Given the description of an element on the screen output the (x, y) to click on. 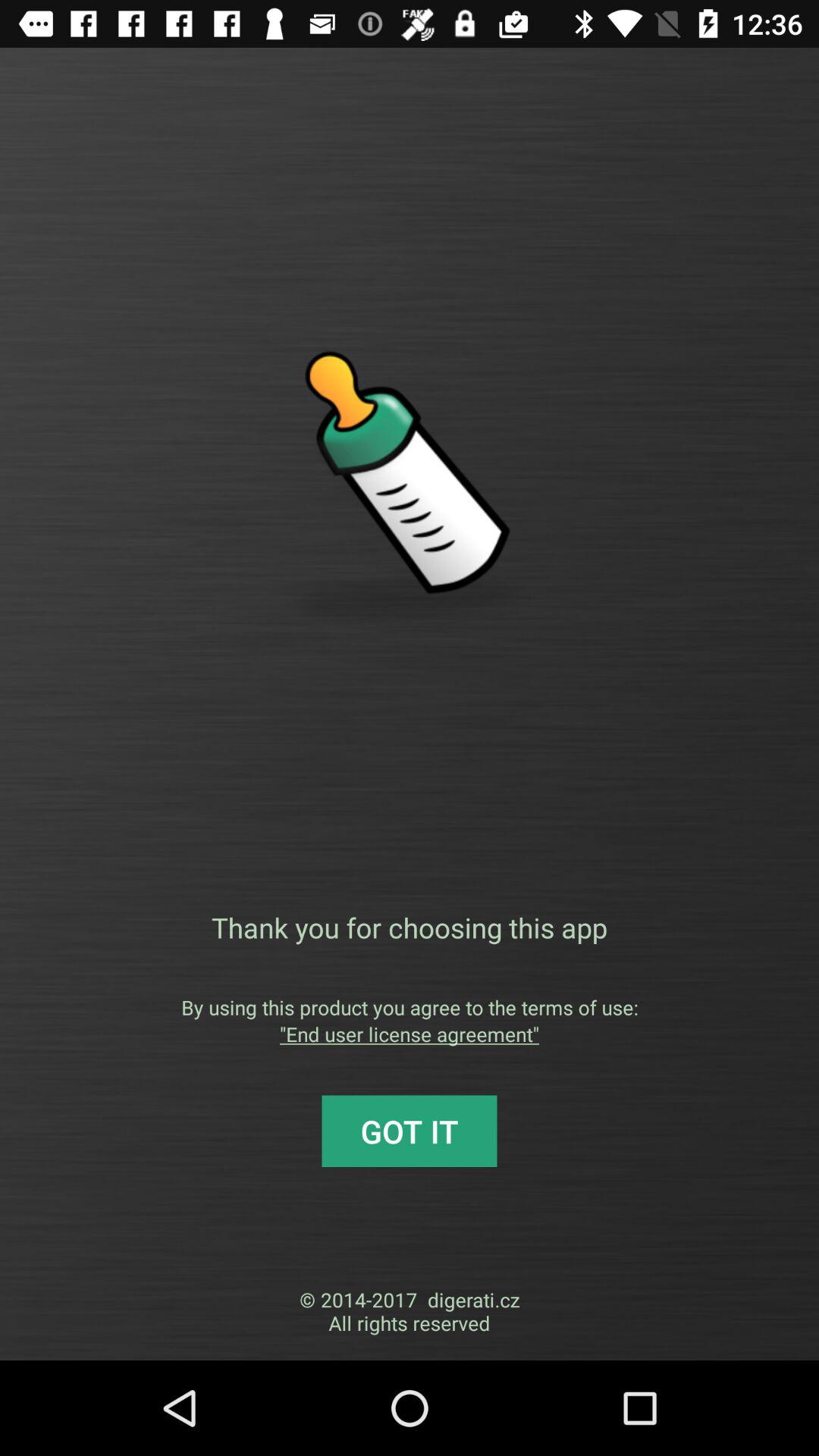
launch the got it item (409, 1131)
